Given the description of an element on the screen output the (x, y) to click on. 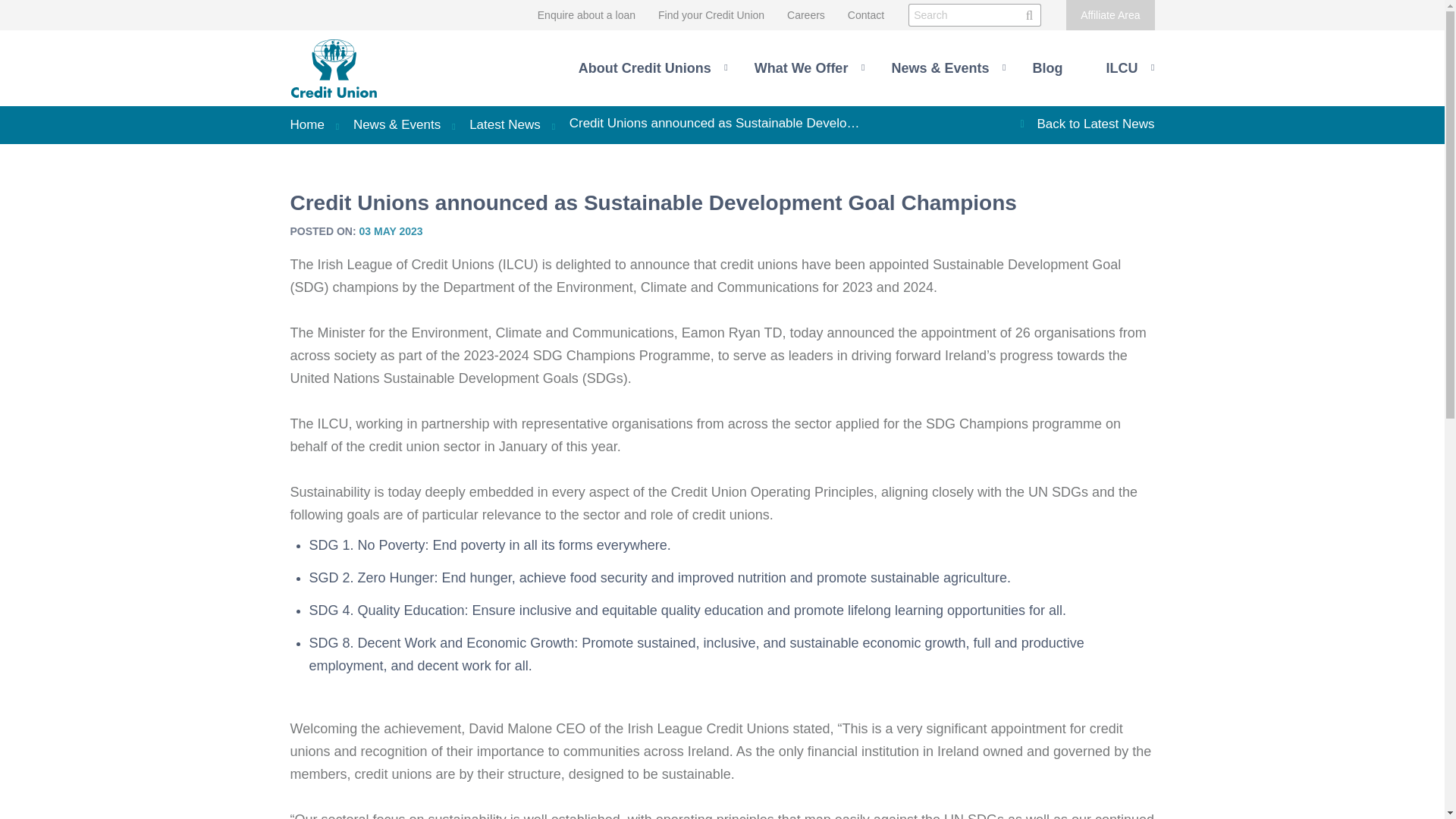
Go (1024, 14)
Enquire about a loan (585, 14)
About Credit Unions (653, 68)
Contact (865, 14)
Blog (1055, 68)
Affiliate Area (1109, 15)
What We Offer (809, 68)
Go (1024, 14)
Find your Credit Union (711, 14)
Go (1024, 14)
